Given the description of an element on the screen output the (x, y) to click on. 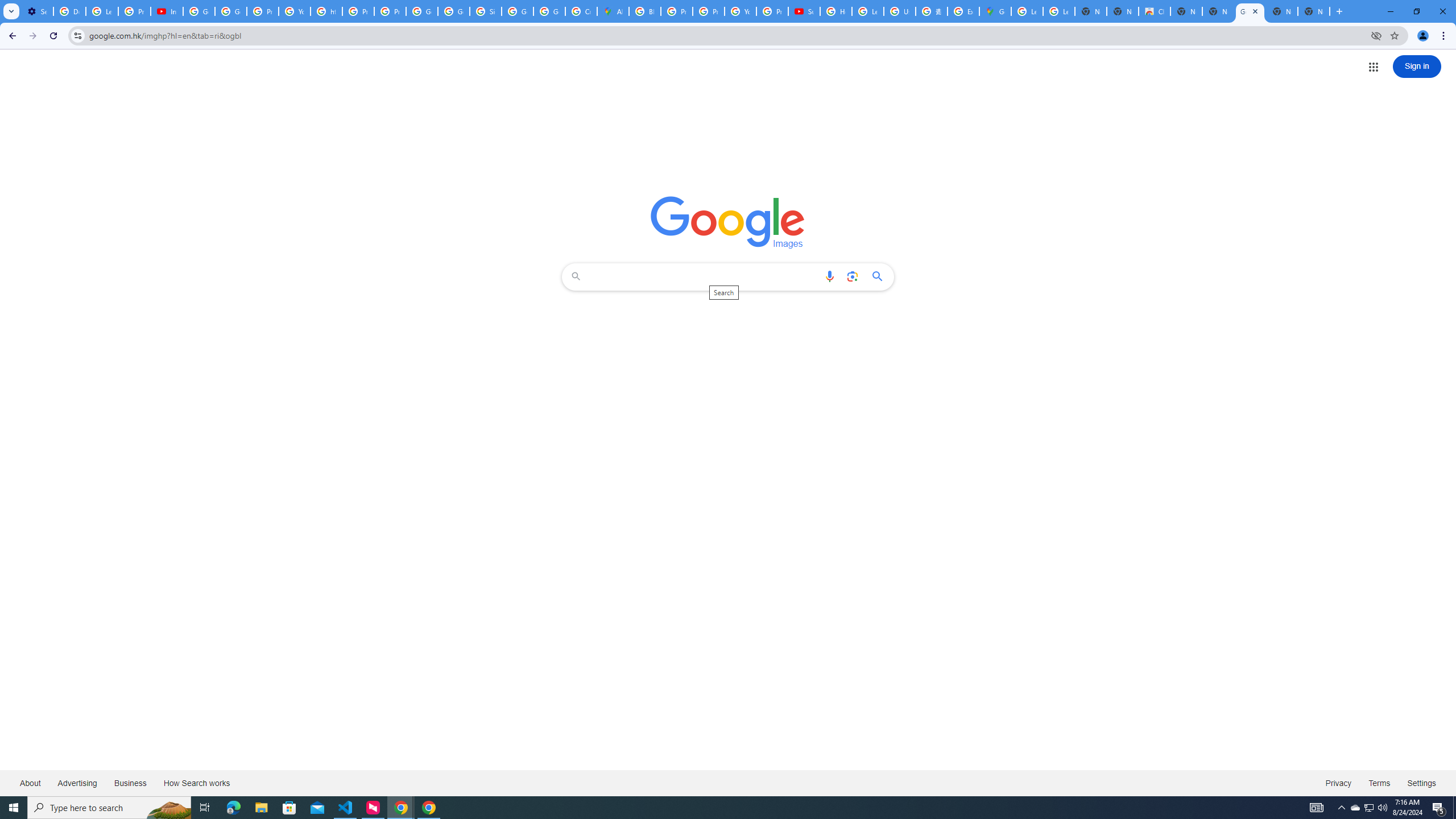
New Tab (1313, 11)
How Search works (196, 782)
Advertising (77, 782)
Google Account Help (198, 11)
Google Maps (995, 11)
Settings - Customize profile (37, 11)
Delete photos & videos - Computer - Google Photos Help (69, 11)
